Given the description of an element on the screen output the (x, y) to click on. 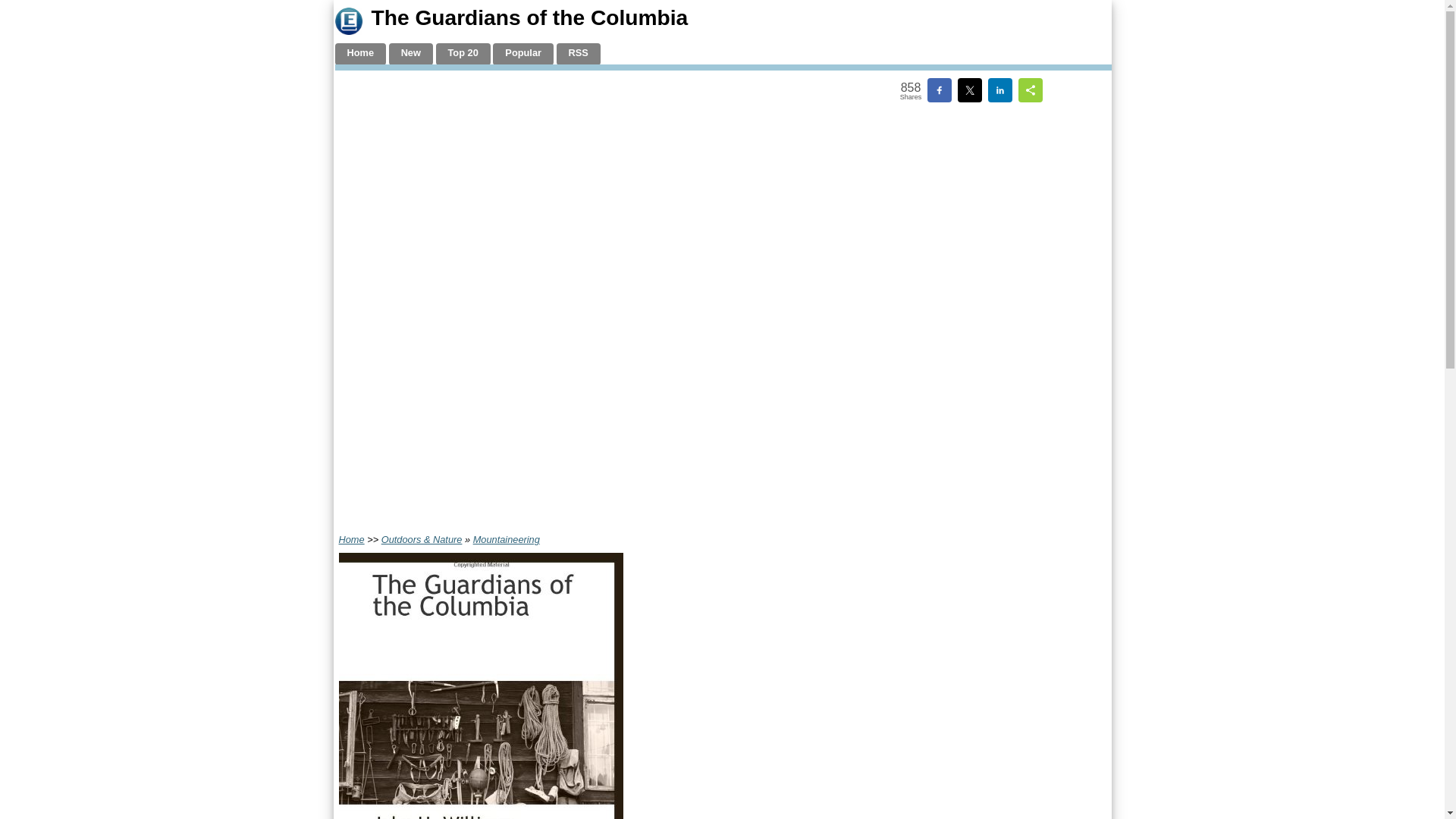
New (410, 54)
RSS (577, 54)
Home (350, 539)
Home (360, 54)
Mountaineering (506, 539)
Popular (523, 54)
Top 20 (462, 54)
